Given the description of an element on the screen output the (x, y) to click on. 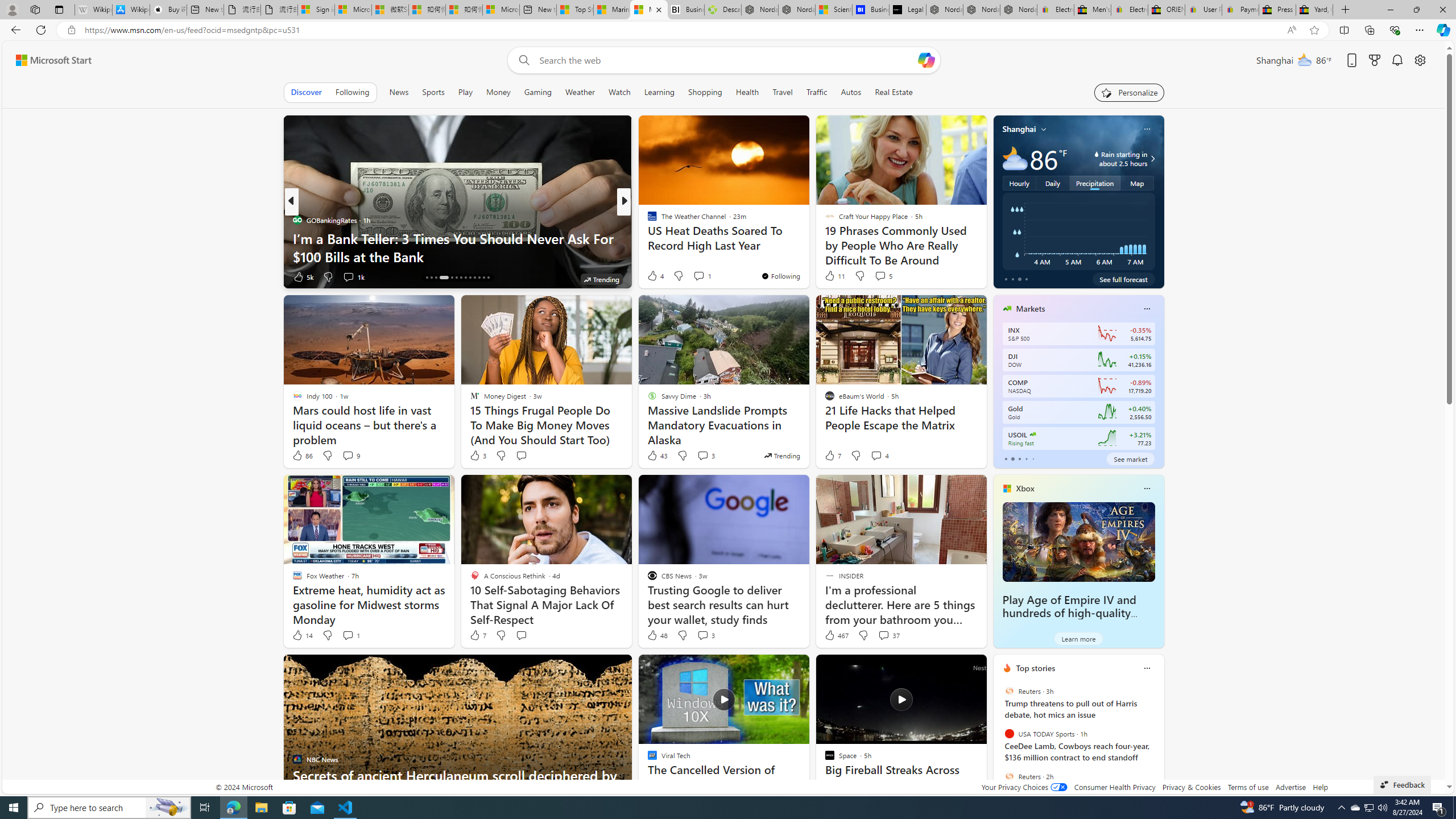
AutomationID: tab-20 (460, 277)
Shopping (705, 92)
Play (465, 92)
View comments 1 Comment (347, 635)
AutomationID: tab-17 (443, 277)
